Given the description of an element on the screen output the (x, y) to click on. 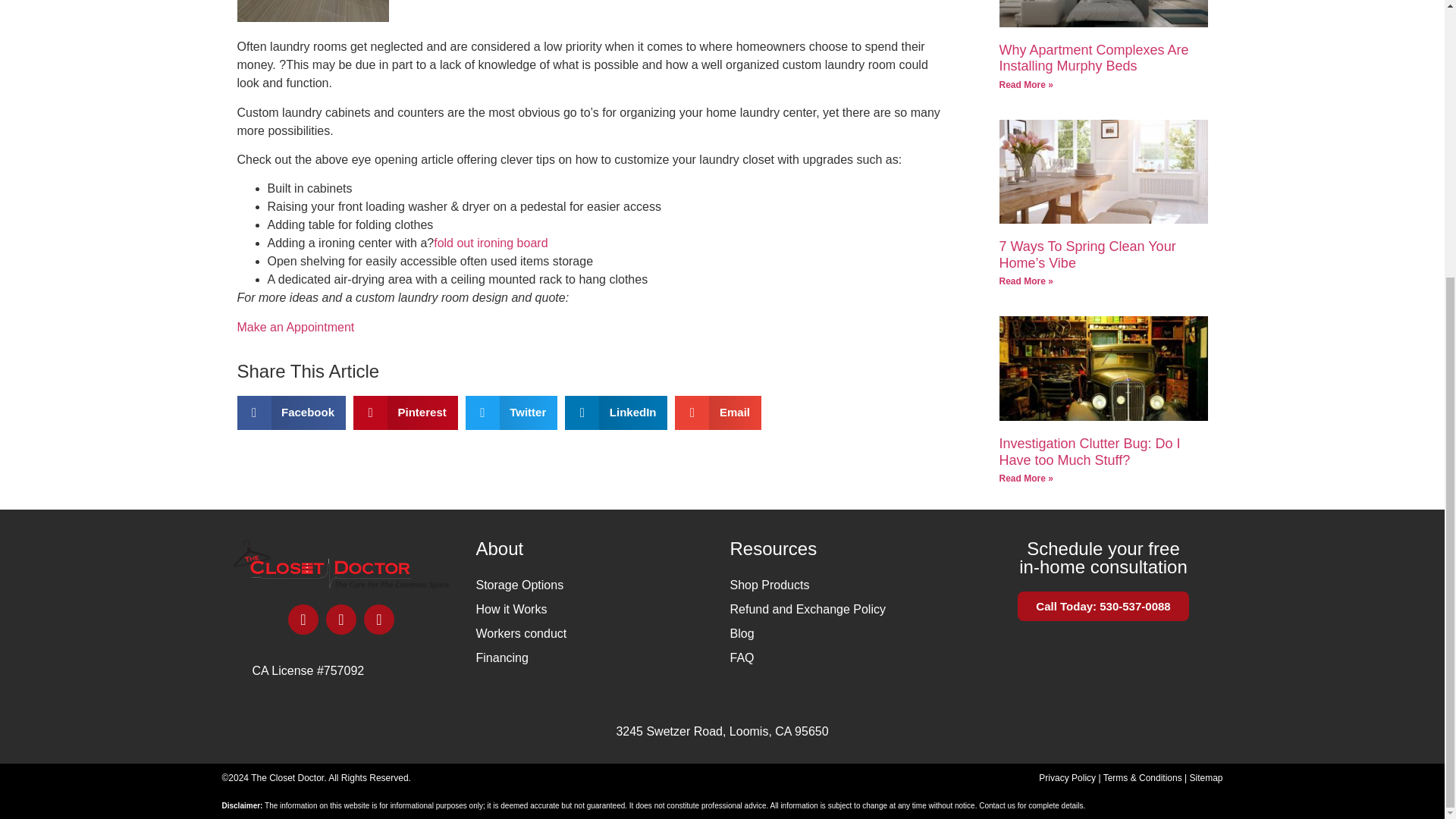
fold out ironing board (490, 242)
Why Apartment Complexes Are Installing Murphy Beds (1093, 58)
Make an Appointment (294, 327)
Make an Appointment (294, 327)
